Given the description of an element on the screen output the (x, y) to click on. 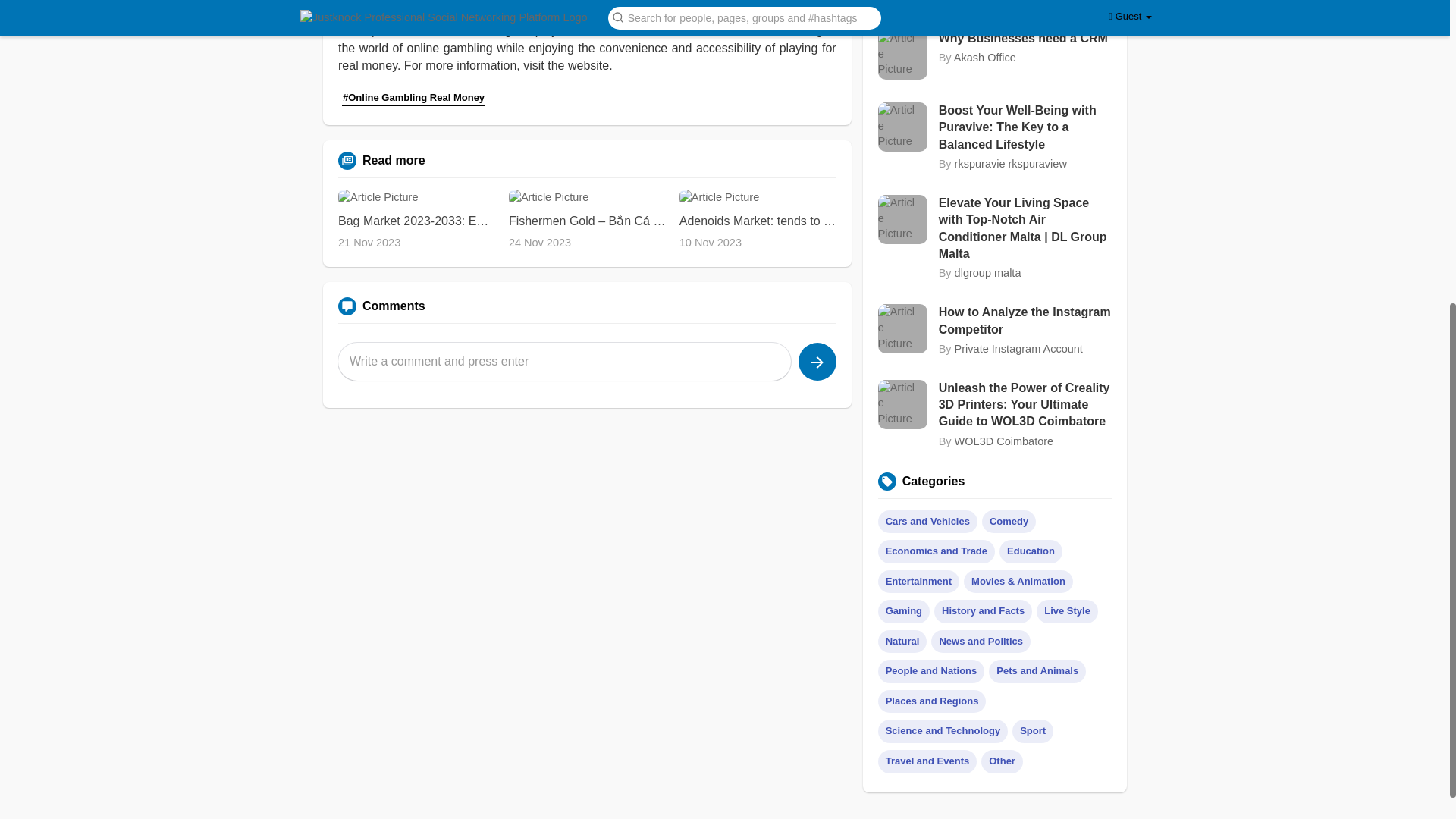
Akash Office (984, 57)
rkspuravie rkspuraview (1011, 163)
Why Businesses need a CRM (1025, 38)
How to Analyze the Instagram Competitor (1025, 320)
dlgroup malta (988, 272)
WOL3D Coimbatore (1004, 440)
Private Instagram Account (1019, 348)
Post (816, 361)
